Given the description of an element on the screen output the (x, y) to click on. 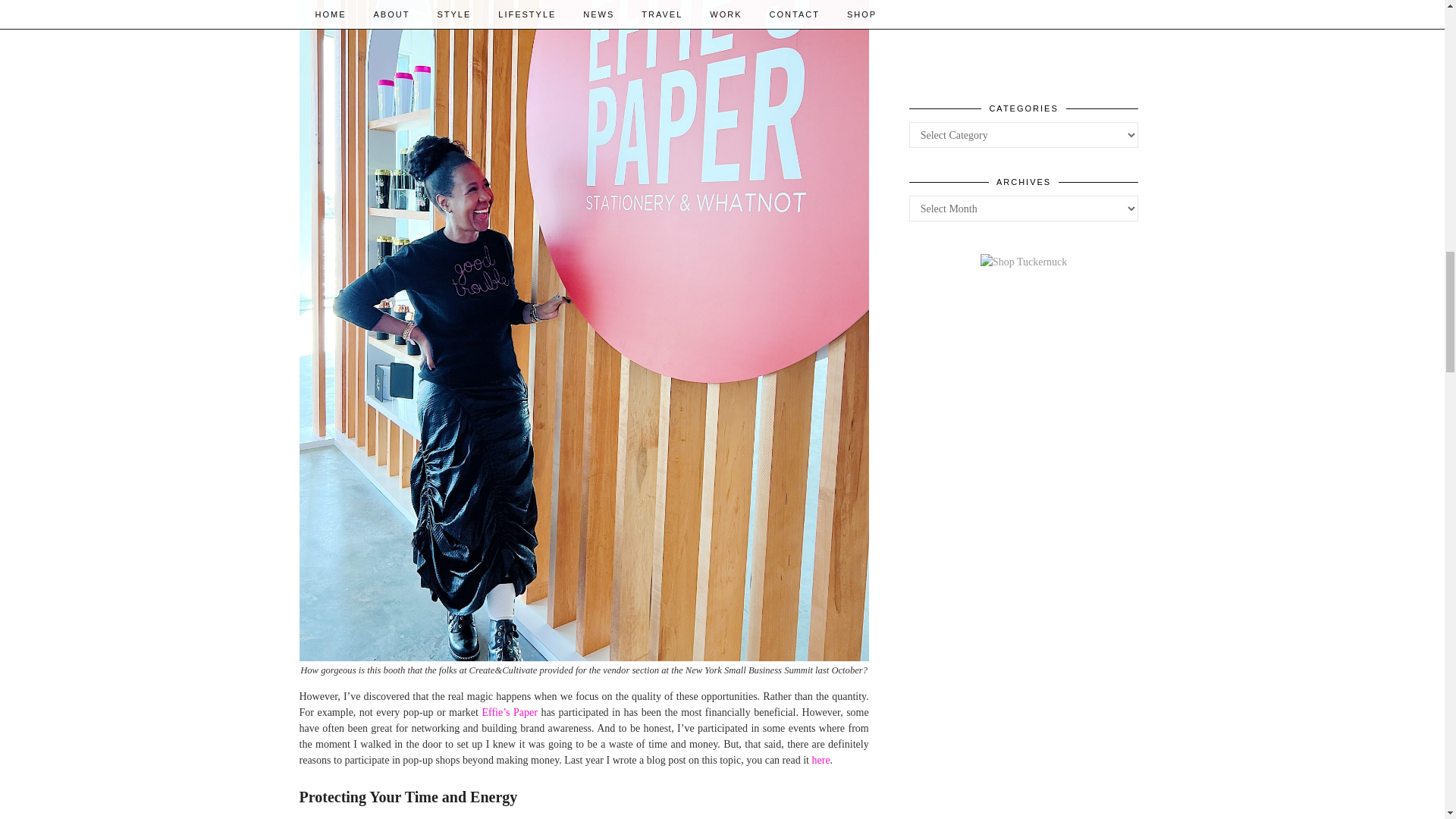
here (819, 759)
